Given the description of an element on the screen output the (x, y) to click on. 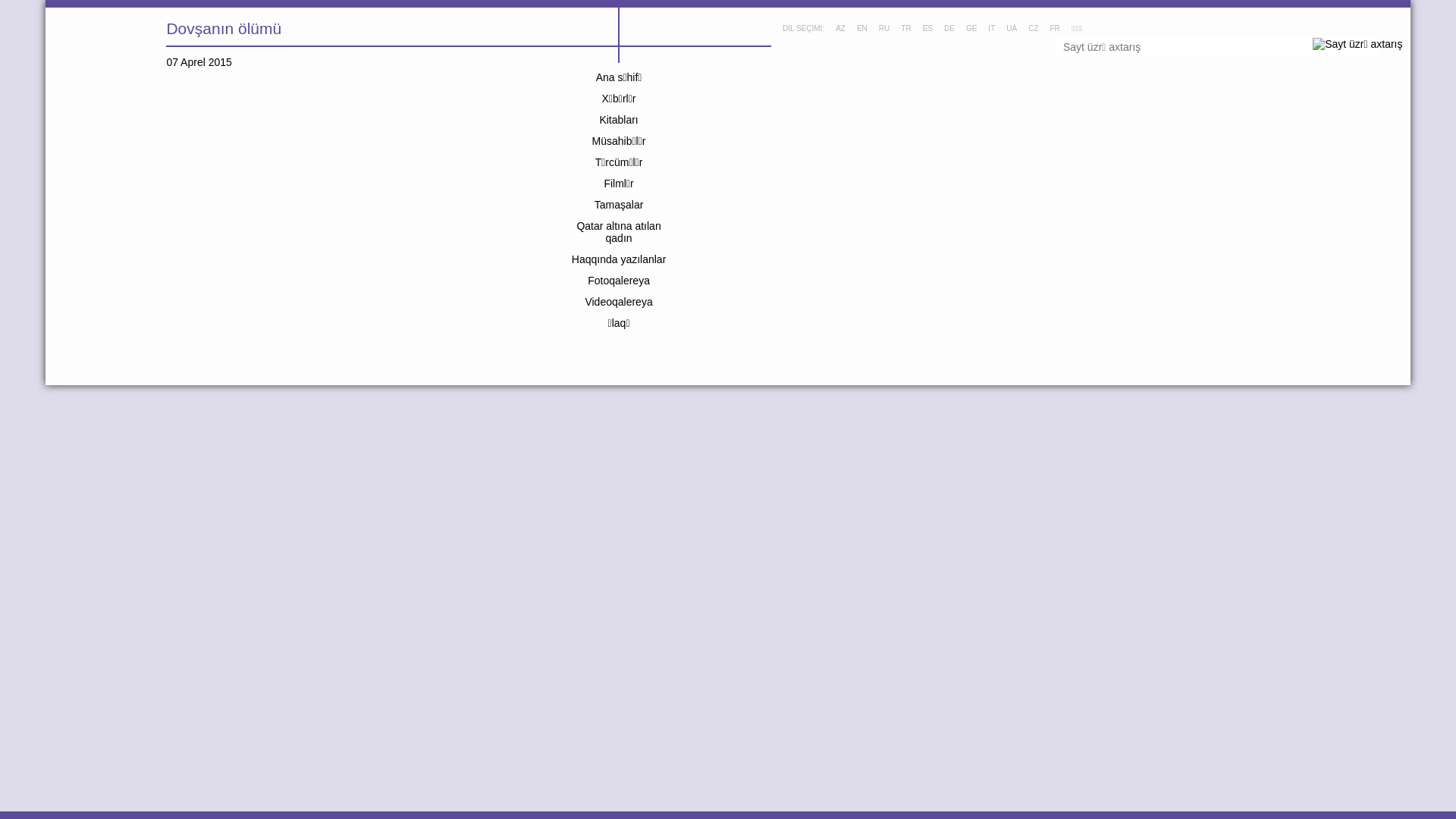
UA Element type: text (1011, 28)
EN Element type: text (861, 28)
Videoqalereya Element type: text (618, 301)
ES Element type: text (927, 28)
FR Element type: text (1054, 28)
IT Element type: text (991, 28)
CZ Element type: text (1033, 28)
RU Element type: text (883, 28)
Fotoqalereya Element type: text (618, 280)
TR Element type: text (905, 28)
DE Element type: text (949, 28)
GE Element type: text (971, 28)
AZ Element type: text (840, 28)
